Given the description of an element on the screen output the (x, y) to click on. 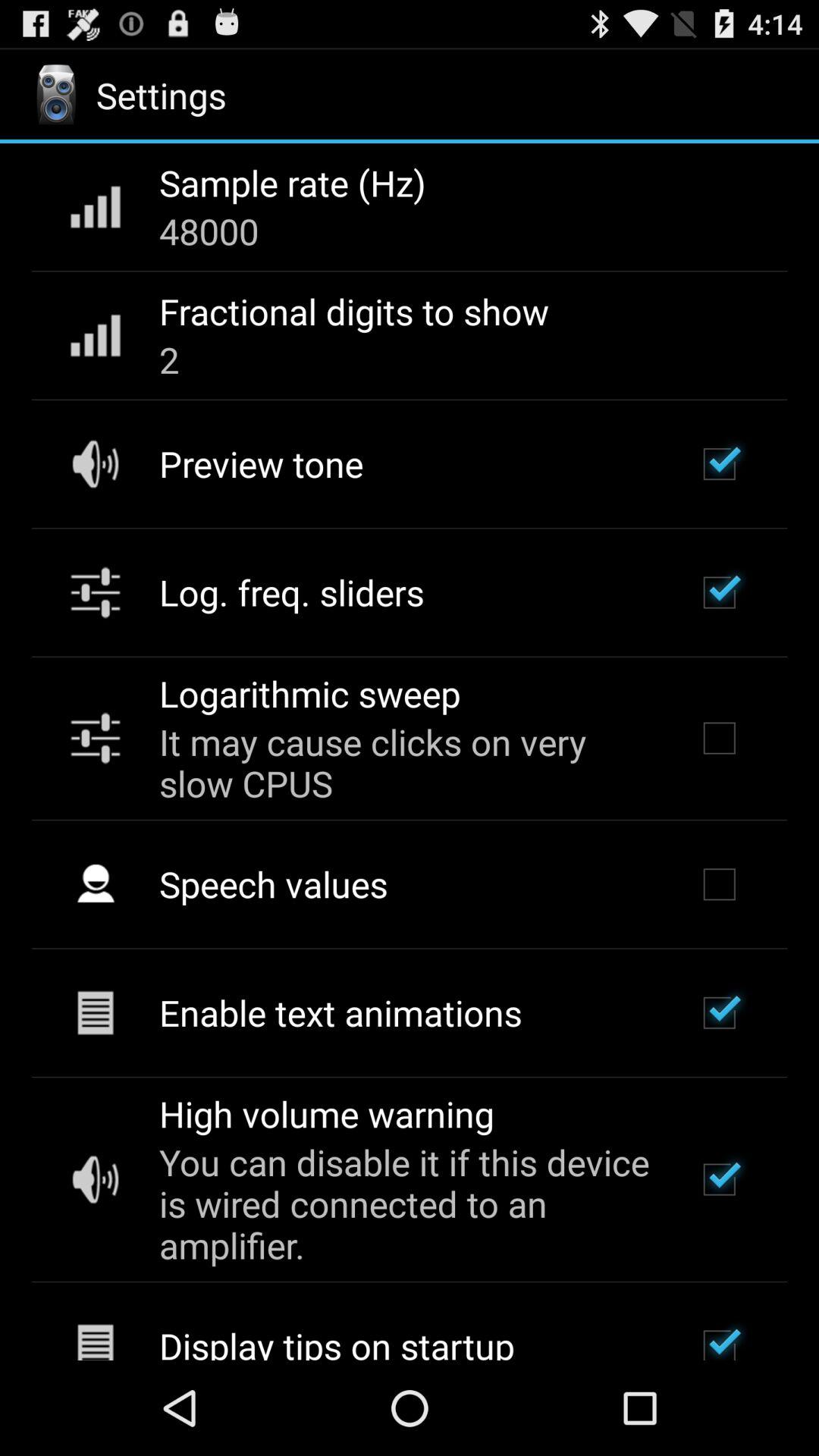
open the app below settings item (292, 182)
